Given the description of an element on the screen output the (x, y) to click on. 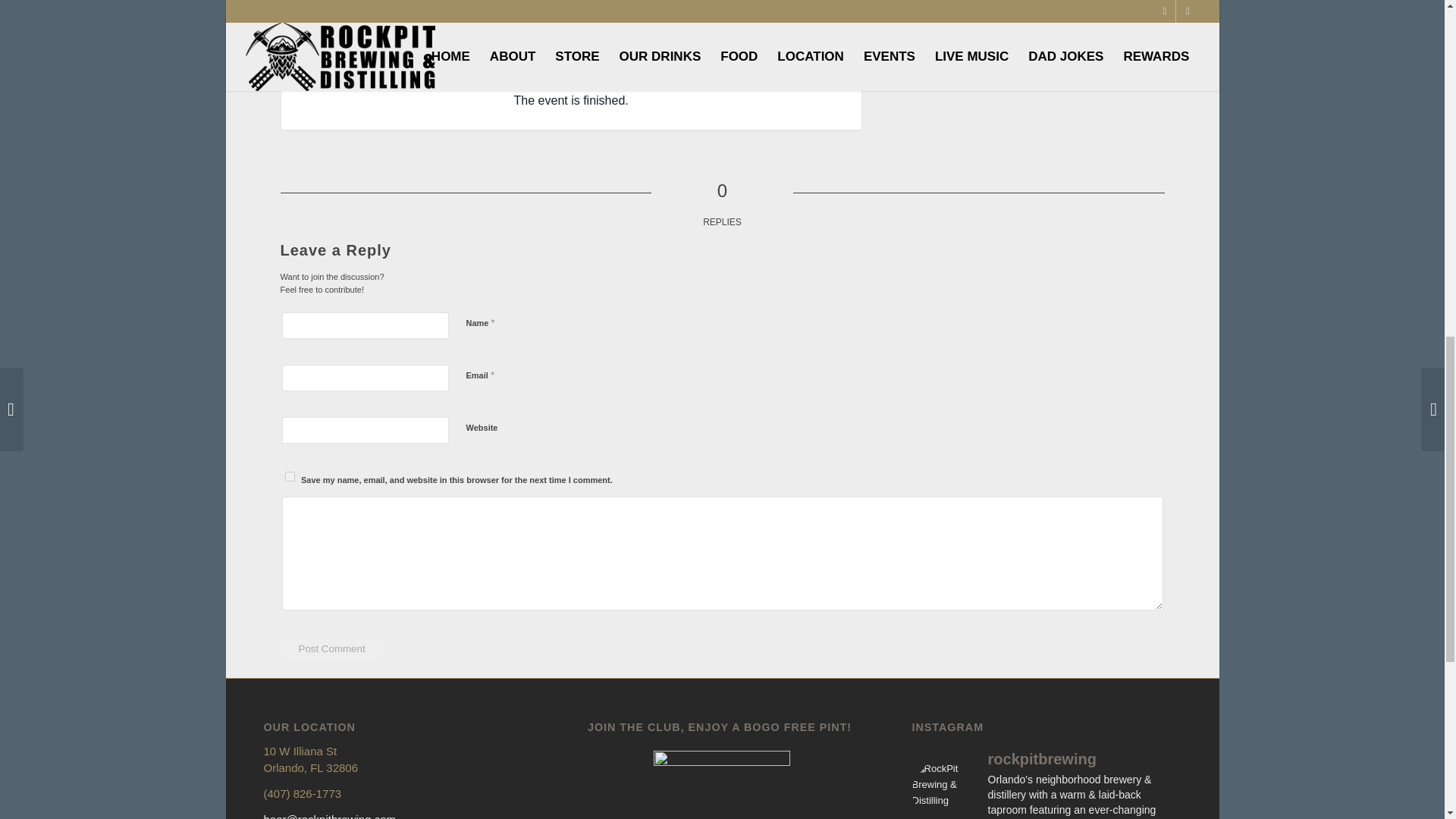
Post Comment (331, 648)
yes (290, 476)
Post Comment (331, 648)
